Given the description of an element on the screen output the (x, y) to click on. 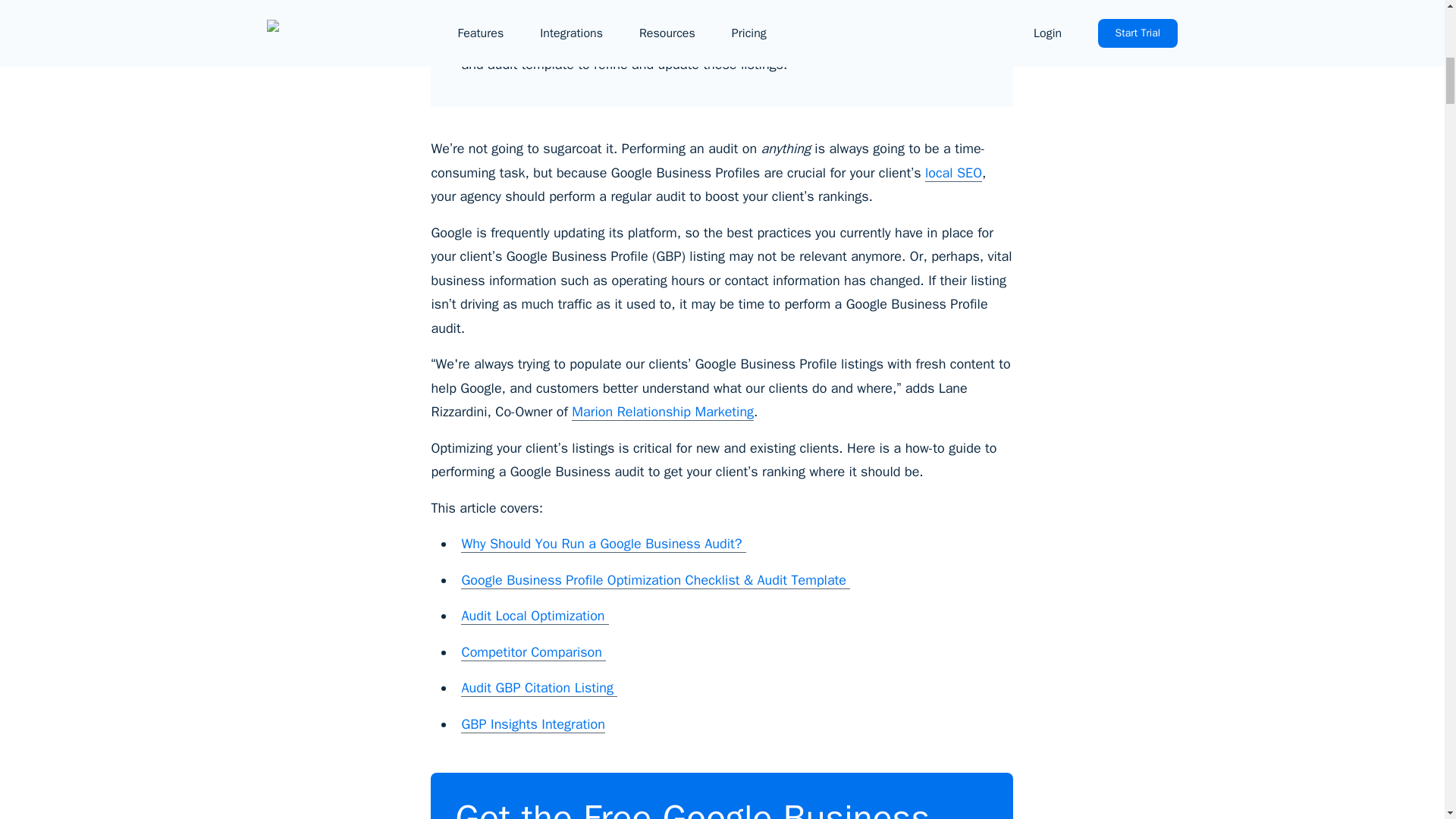
GBP Insights Integration (532, 724)
Audit Local Optimization  (534, 615)
Why Should You Run a Google Business Audit?  (603, 543)
local SEO (952, 171)
Marion Relationship Marketing (663, 411)
Competitor Comparison  (533, 651)
Audit GBP Citation Listing  (539, 687)
